Given the description of an element on the screen output the (x, y) to click on. 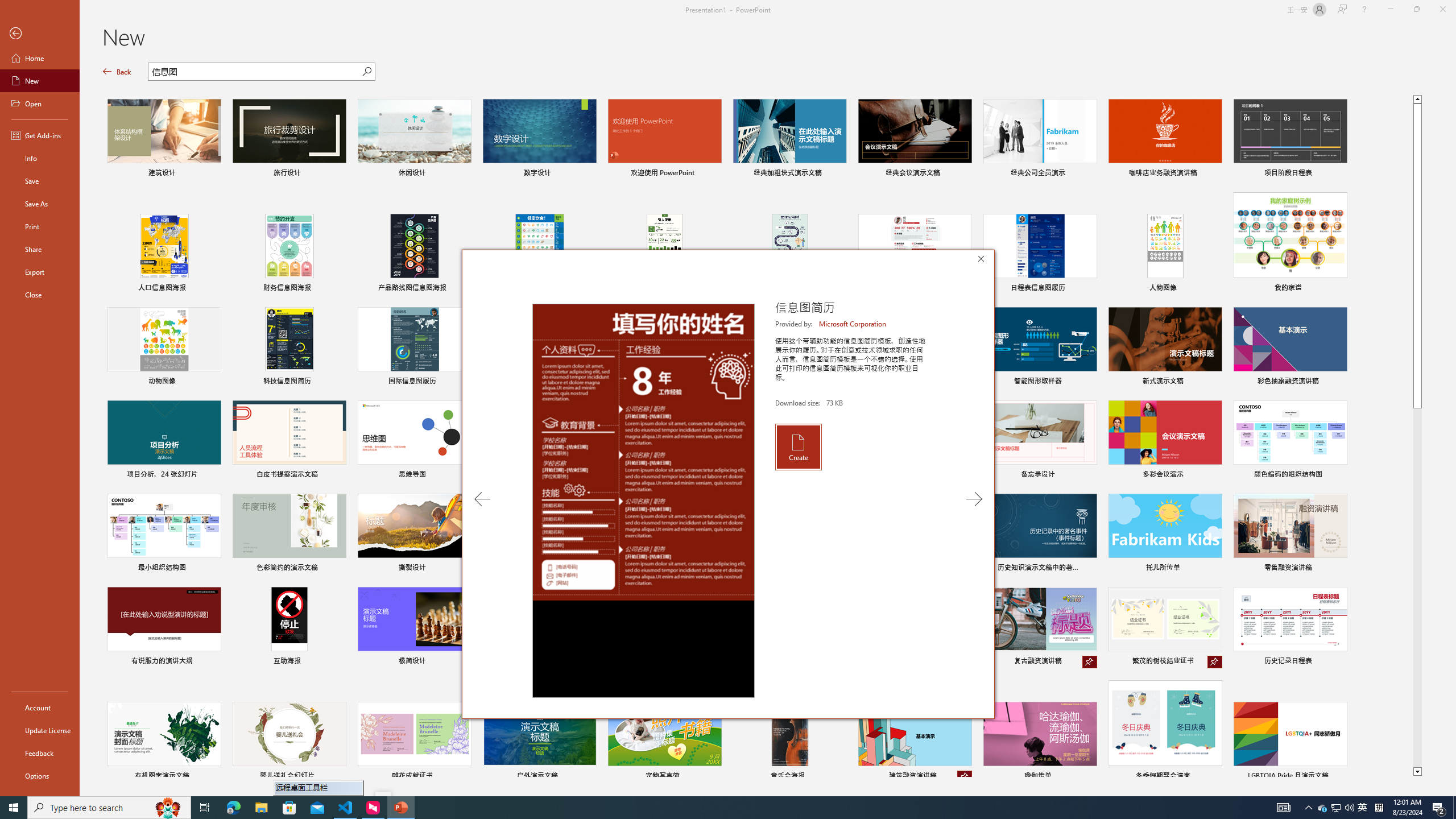
Tray Input Indicator - Chinese (Simplified, China) (1378, 807)
Print (40, 225)
Line down (1417, 772)
Preview (643, 500)
Account (40, 707)
Update License (40, 730)
Info (40, 157)
Q2790: 100% (1362, 807)
